Given the description of an element on the screen output the (x, y) to click on. 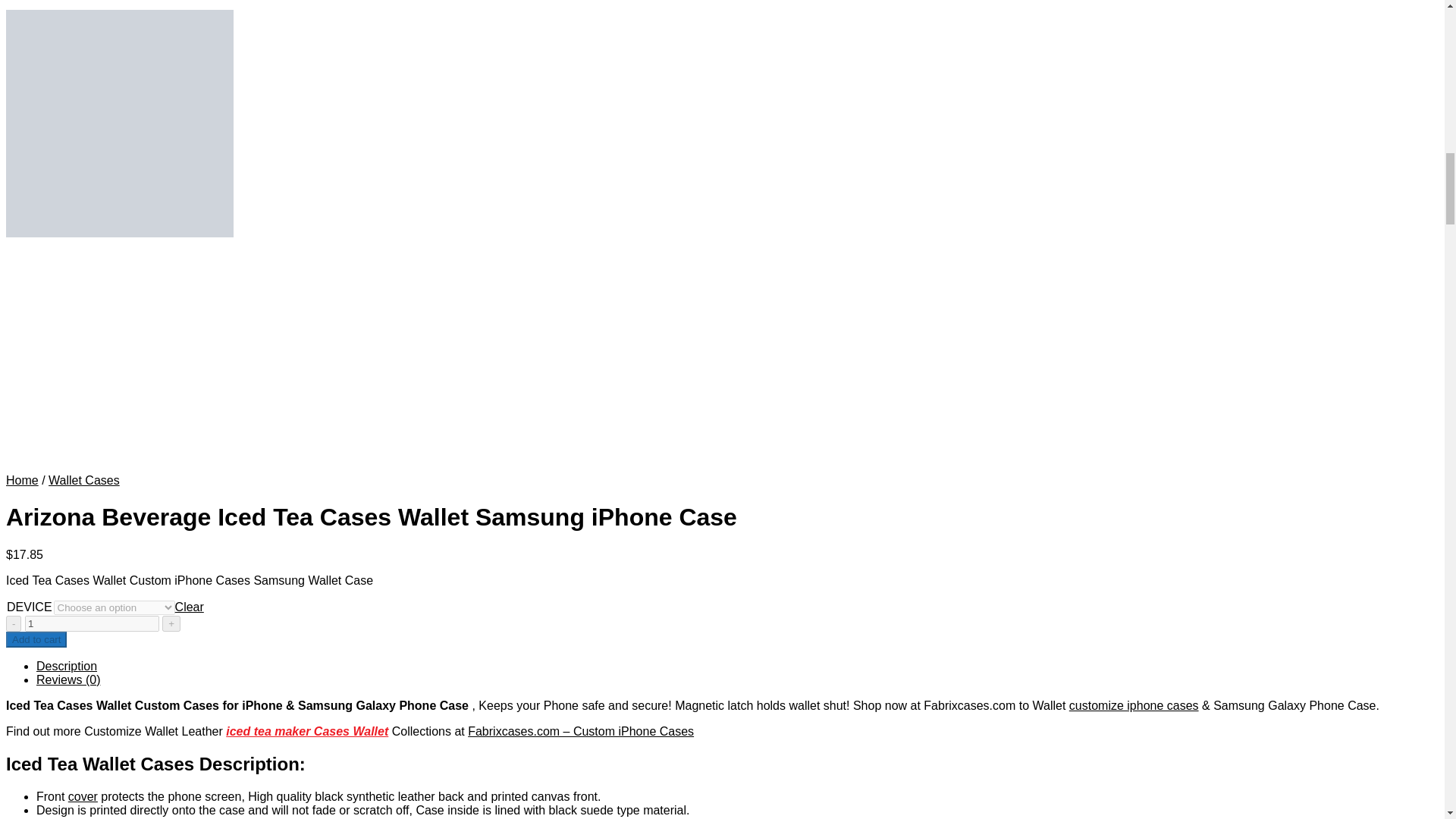
iced tea maker Cases Wallet (306, 730)
Qty (91, 623)
cover (82, 796)
- (13, 623)
Wallet Cases (83, 480)
tpu Rubber (236, 818)
Clear (188, 606)
Description (66, 666)
Add to cart (35, 639)
1 (91, 623)
Home (22, 480)
